Given the description of an element on the screen output the (x, y) to click on. 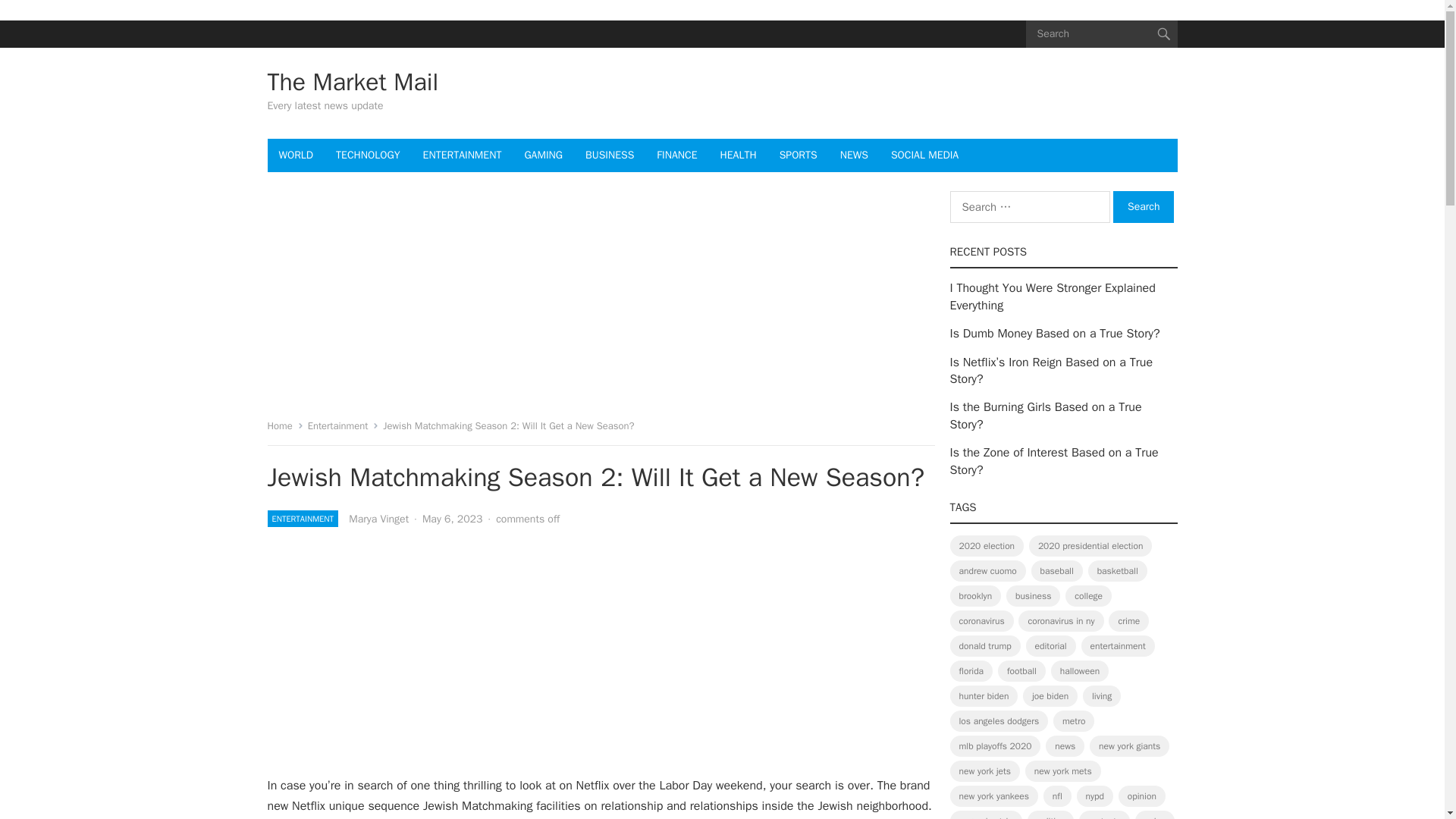
Search (1143, 206)
HEALTH (738, 154)
The Market Mail (352, 82)
WORLD (295, 154)
Home (284, 425)
GAMING (542, 154)
Posts by Marya Vinget (379, 518)
BUSINESS (609, 154)
SOCIAL MEDIA (924, 154)
Marya Vinget (379, 518)
ENTERTAINMENT (462, 154)
NEWS (853, 154)
ENTERTAINMENT (301, 518)
Search (1143, 206)
FINANCE (676, 154)
